Given the description of an element on the screen output the (x, y) to click on. 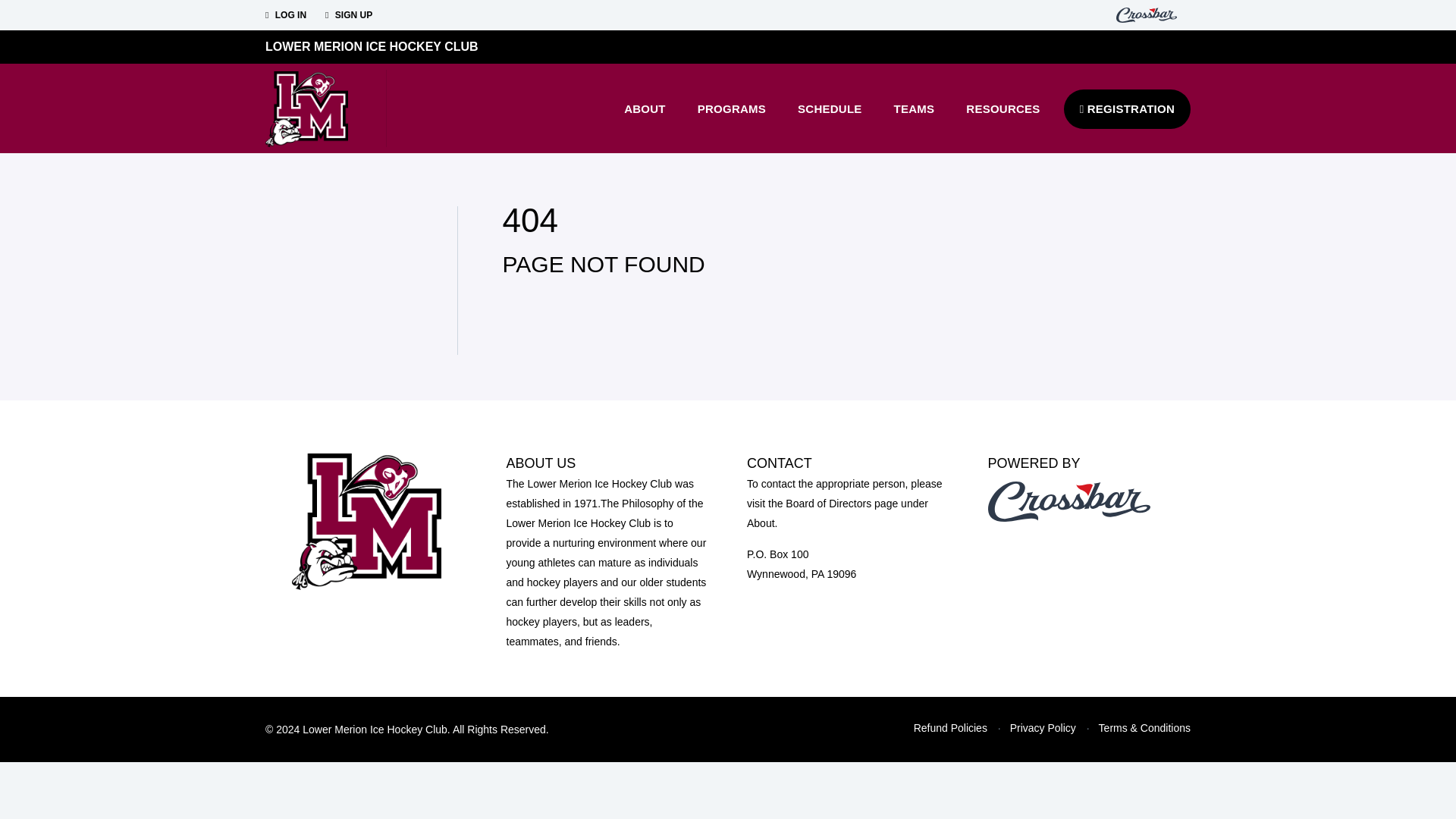
PROGRAMS (731, 108)
SIGN UP (348, 15)
ABOUT (644, 108)
SCHEDULE (829, 108)
LOG IN (284, 15)
LOWER MERION ICE HOCKEY CLUB (371, 46)
TEAMS (913, 108)
